Given the description of an element on the screen output the (x, y) to click on. 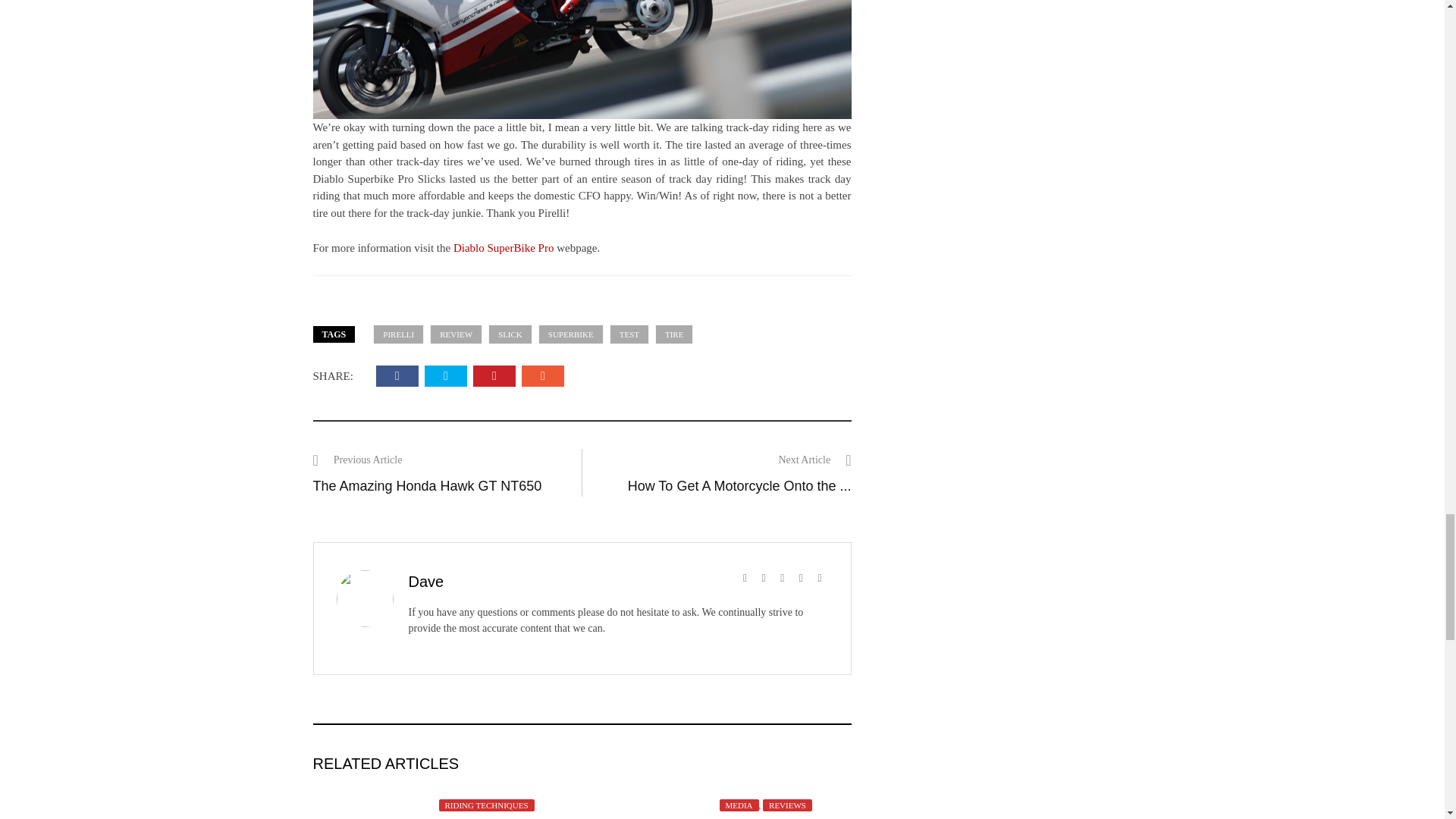
View all posts tagged Superbike (571, 334)
View all posts tagged Pirelli (397, 334)
View all posts tagged tire (674, 334)
View all posts tagged Slick (509, 334)
View all posts tagged test (629, 334)
View all posts tagged review (455, 334)
